Given the description of an element on the screen output the (x, y) to click on. 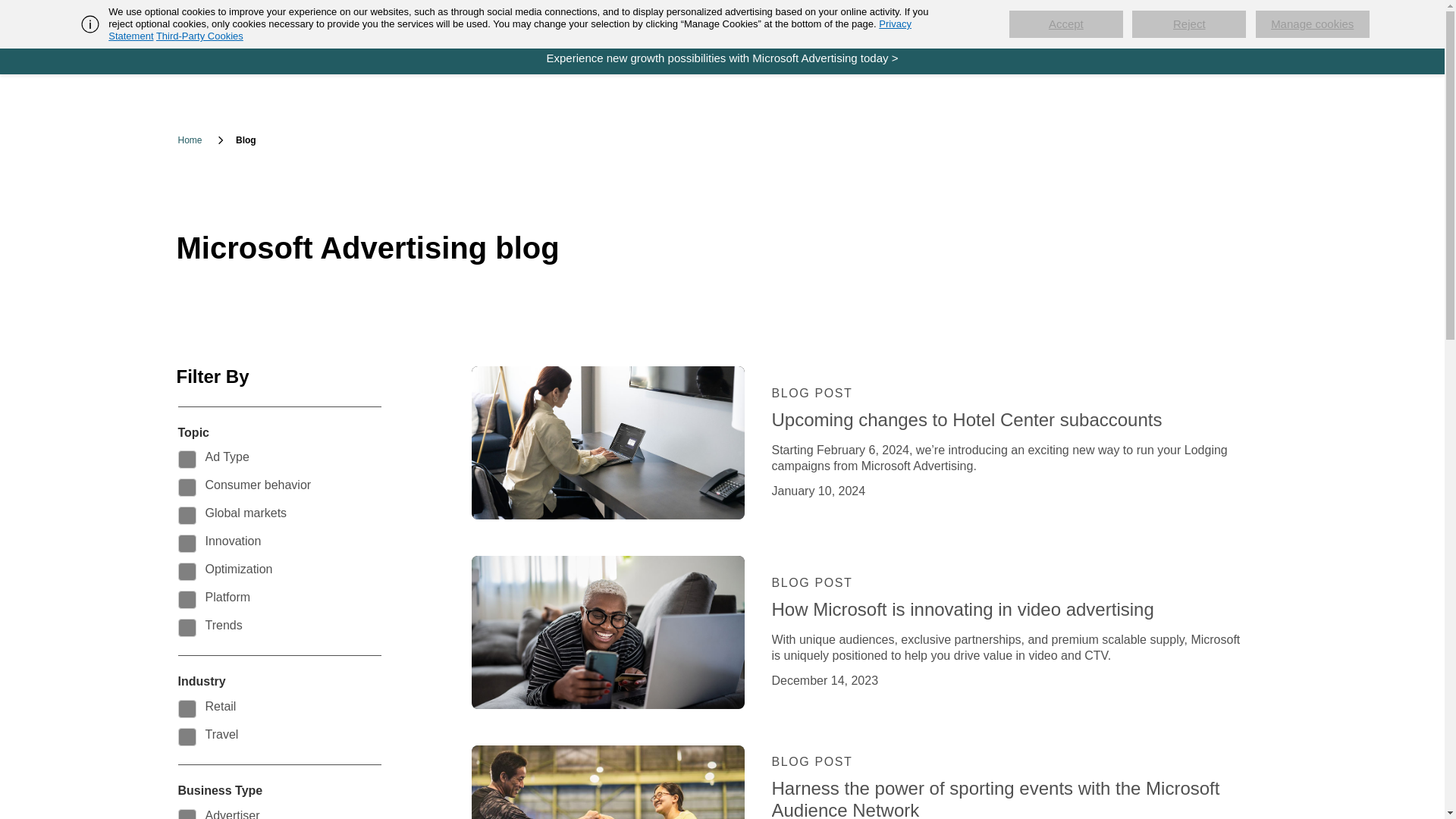
Reject (1189, 23)
Solutions (453, 20)
Privacy Statement (509, 29)
Microsoft (255, 20)
Get started (377, 20)
Manage cookies (1312, 23)
Tools (517, 20)
Accept (1065, 23)
Third-Party Cookies (199, 35)
